Given the description of an element on the screen output the (x, y) to click on. 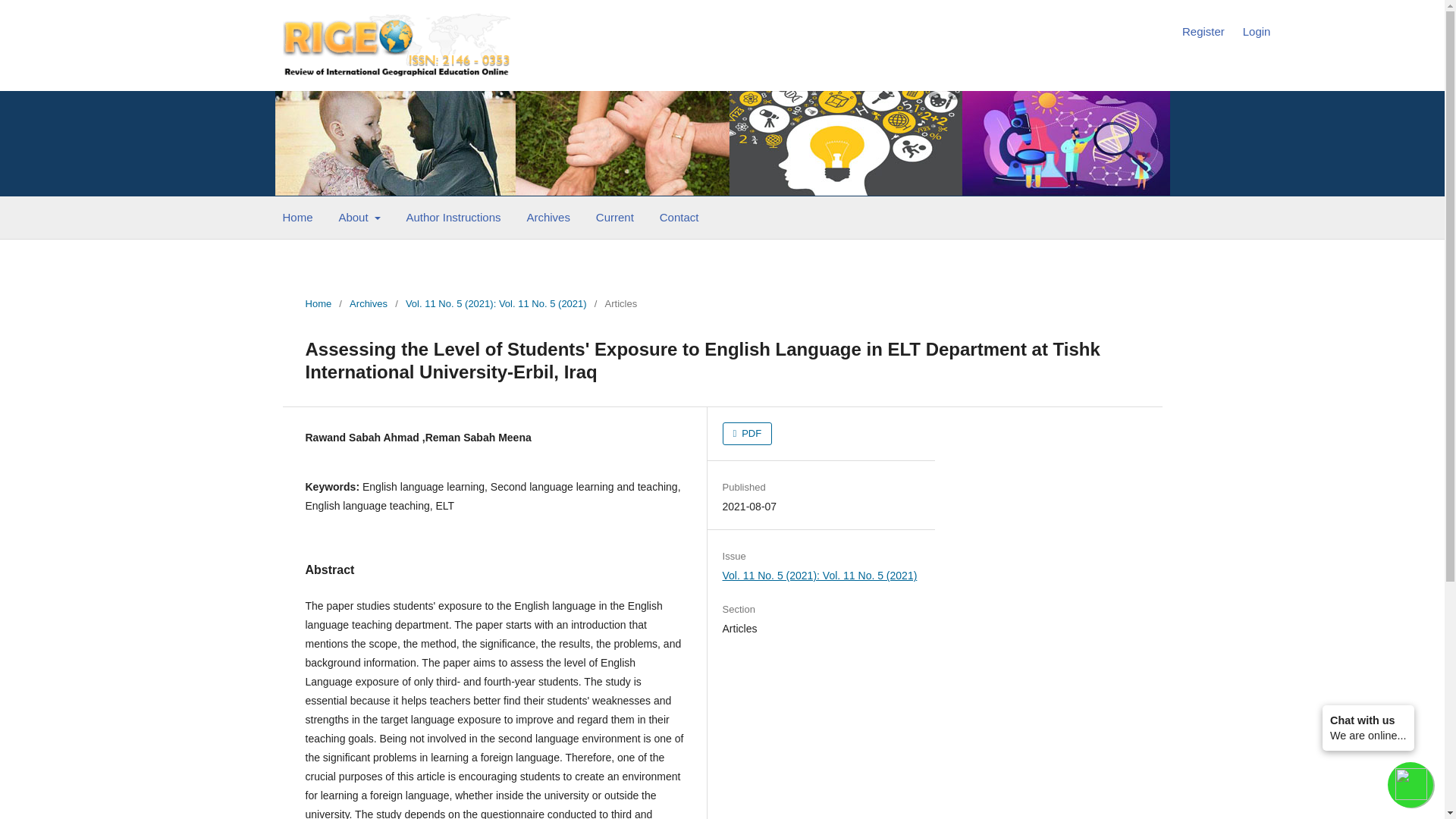
Home (317, 304)
Login (1257, 31)
Home (297, 219)
Archives (368, 304)
Open Journal Systems (395, 43)
PDF (747, 433)
Contact (678, 219)
About (359, 219)
Register (1203, 31)
Author Instructions (453, 219)
Archives (548, 219)
Current (614, 219)
